Given the description of an element on the screen output the (x, y) to click on. 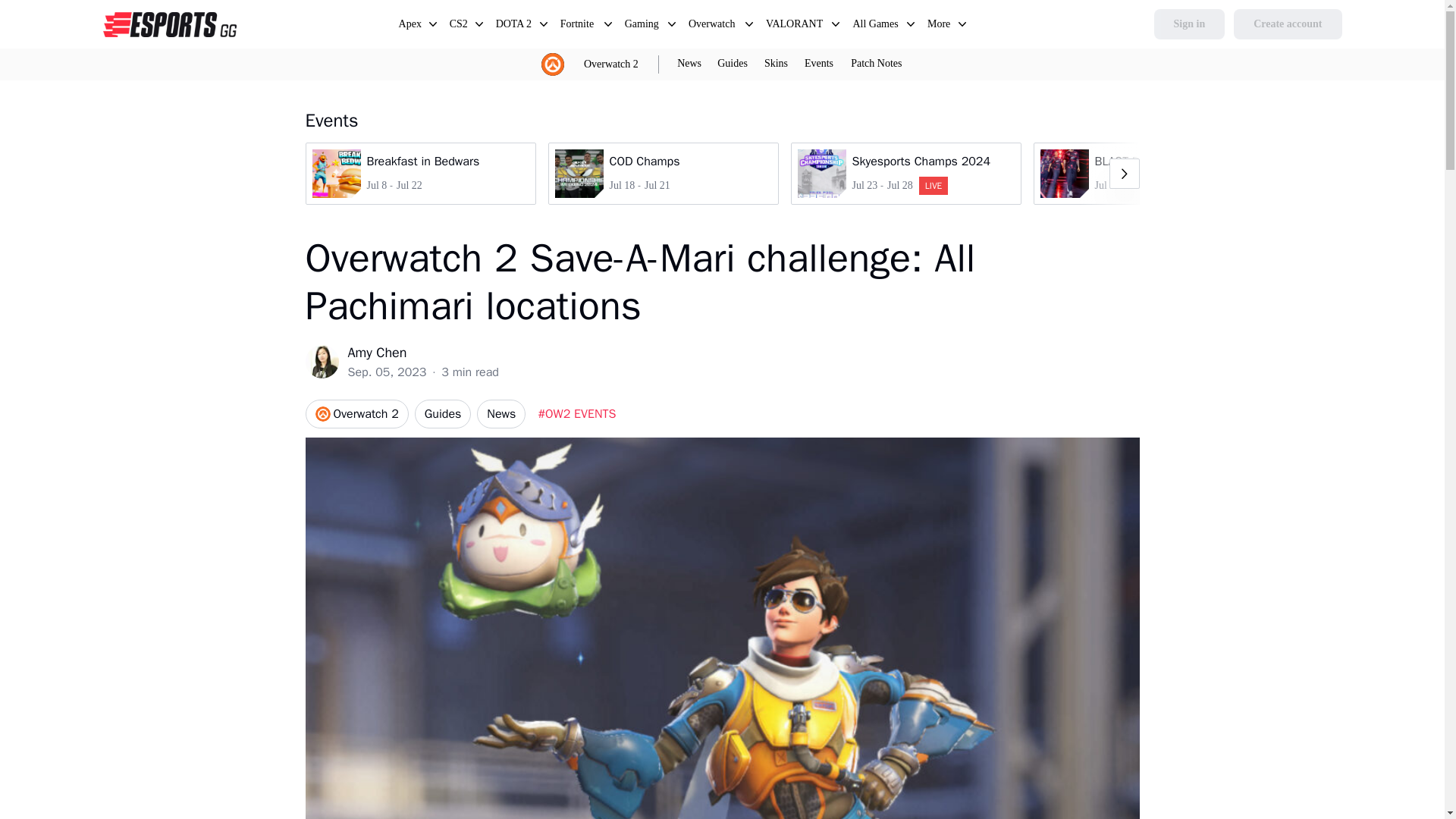
Overwatch 2 (611, 64)
Gaming (642, 25)
Overwatch (713, 25)
Sign in (1189, 24)
Patch Notes (875, 64)
Overwatch 2 (611, 64)
Apex (410, 25)
Fortnite (905, 173)
Guides (662, 173)
Guides (578, 25)
Amy Chen (732, 64)
Overwatch (442, 413)
